Given the description of an element on the screen output the (x, y) to click on. 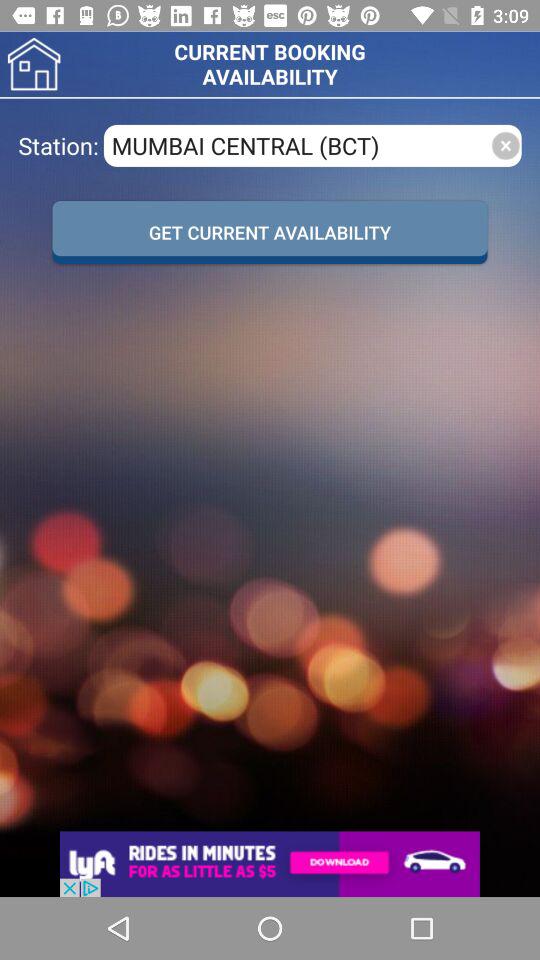
details about advertisement (270, 864)
